Given the description of an element on the screen output the (x, y) to click on. 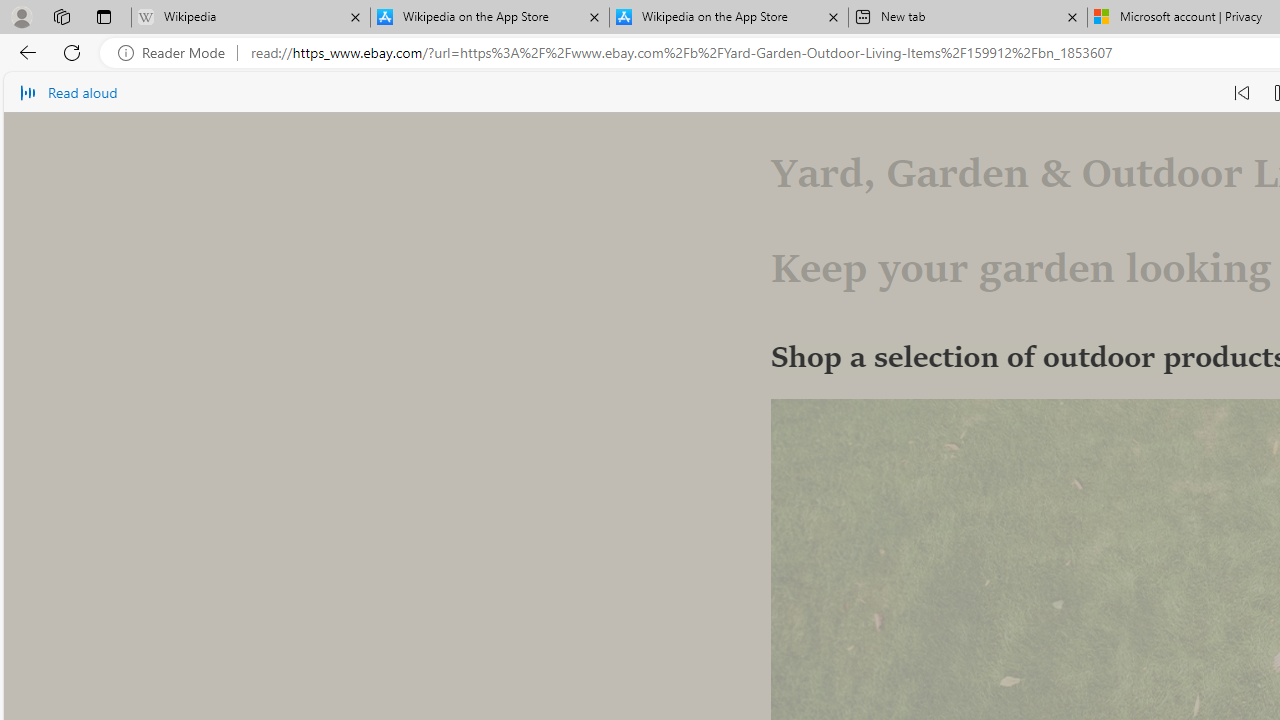
Reader Mode (177, 53)
Read previous paragraph (1242, 92)
